Given the description of an element on the screen output the (x, y) to click on. 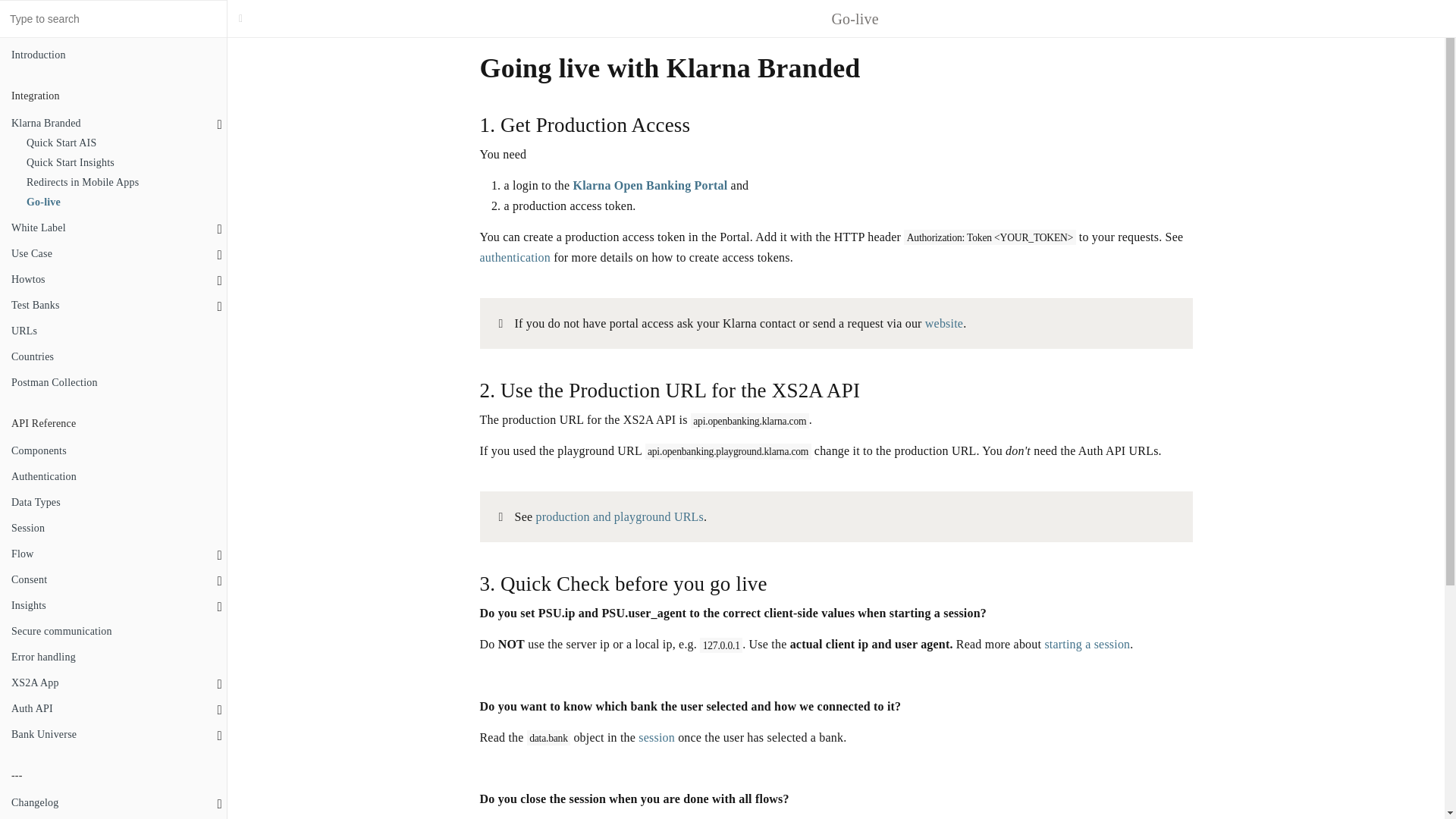
Postman Collection (113, 383)
White Label (113, 228)
Redirects in Mobile Apps (120, 182)
Data Types (113, 502)
Introduction (113, 55)
Use Case (113, 253)
Klarna Branded (113, 123)
Quick Start AIS (120, 143)
Countries (113, 356)
Flow (113, 554)
Session (113, 528)
URLs (113, 331)
Quick Start Insights (120, 162)
Authentication (113, 476)
Go-live (120, 202)
